Given the description of an element on the screen output the (x, y) to click on. 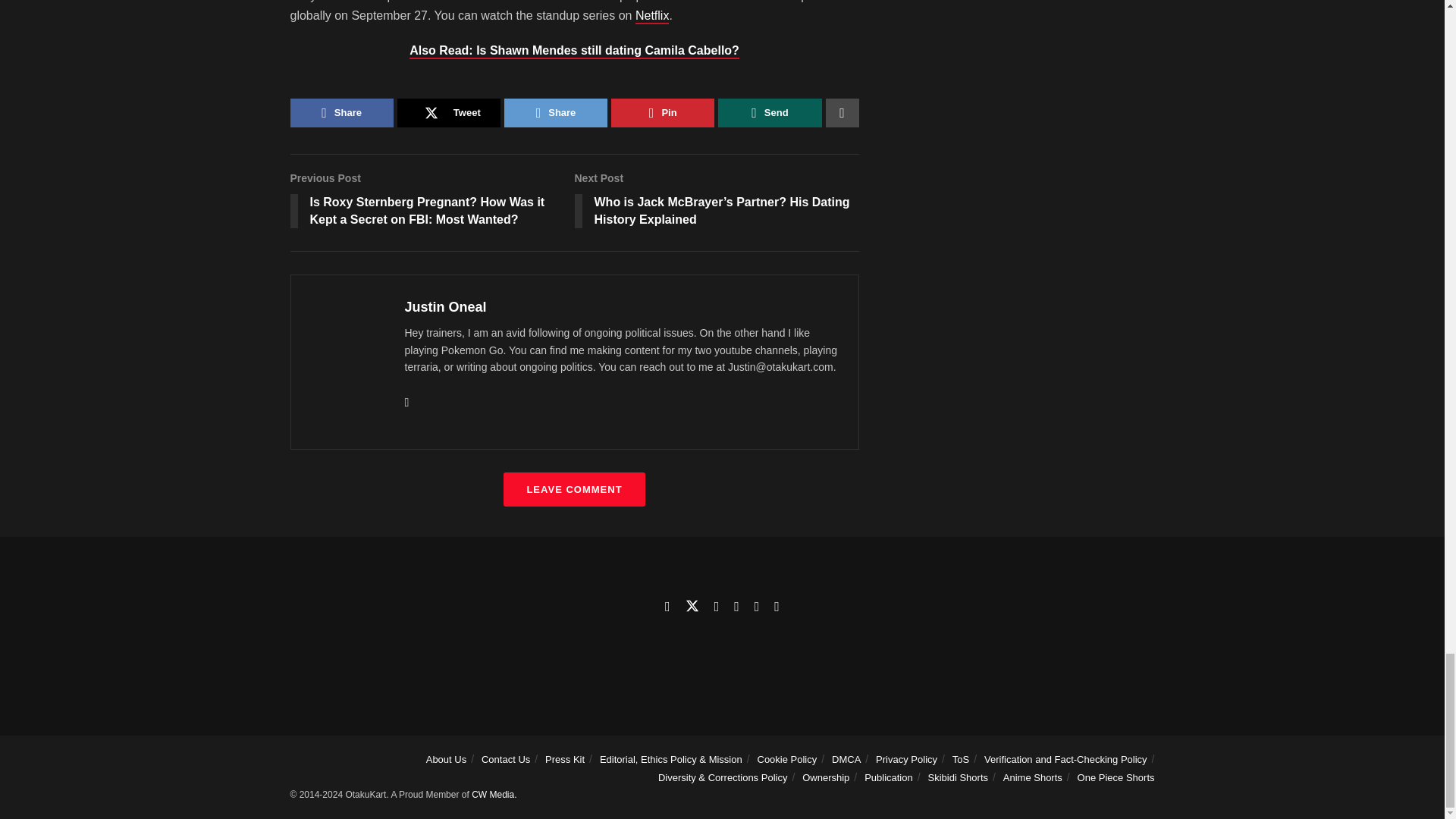
Pin (662, 112)
Also Read: Is Shawn Mendes still dating Camila Cabello? (574, 51)
Send (769, 112)
Tweet (448, 112)
Share (555, 112)
Netflix (651, 16)
Share (341, 112)
Justin Oneal (445, 306)
